Given the description of an element on the screen output the (x, y) to click on. 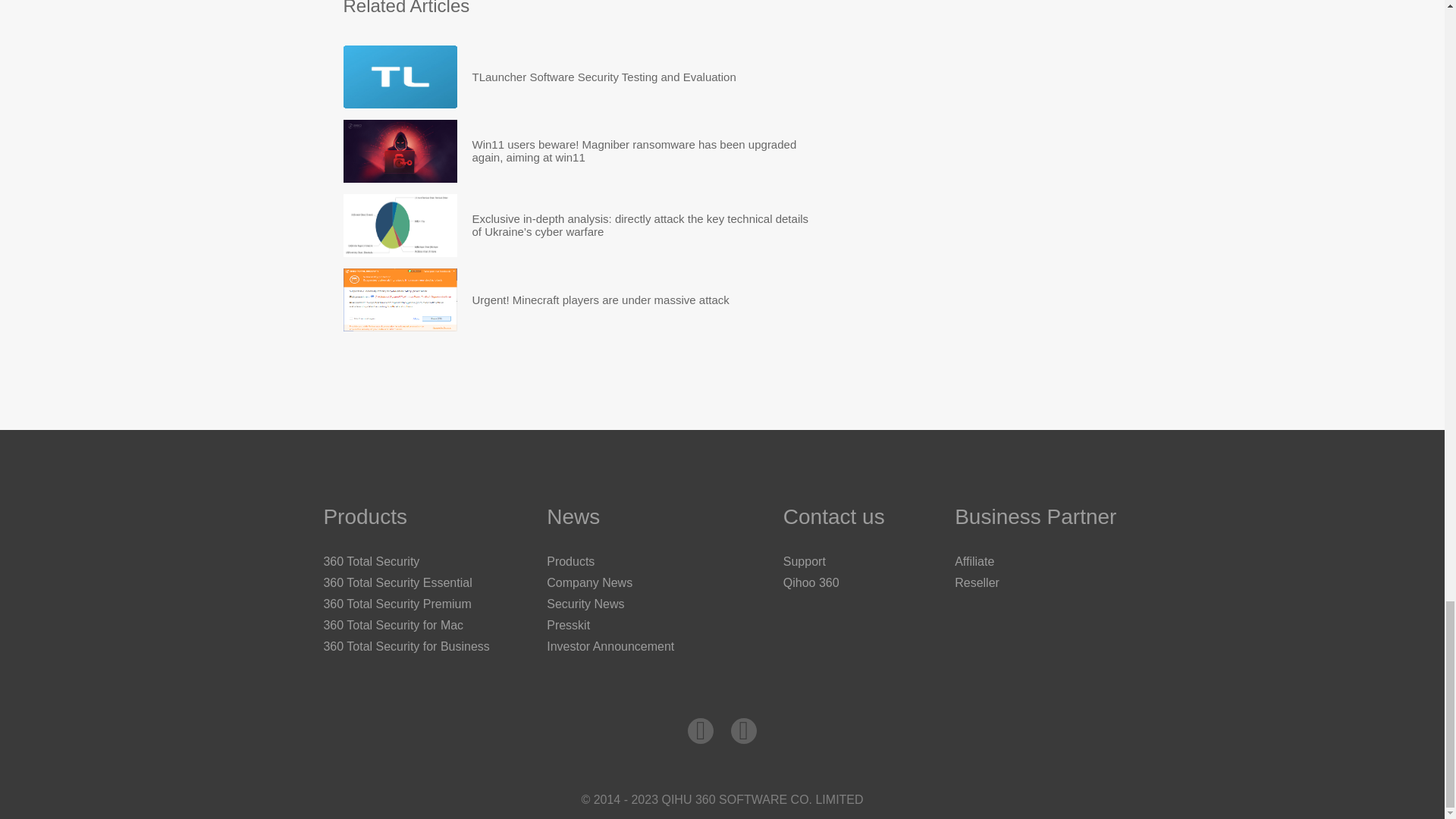
Urgent! Minecraft players are under massive attack (399, 299)
TLauncher Software Security Testing and Evaluation (603, 76)
TLauncher Software Security Testing and Evaluation (399, 76)
Urgent! Minecraft players are under massive attack (600, 299)
TLauncher Software Security Testing and Evaluation (603, 76)
Urgent! Minecraft players are under massive attack (600, 299)
